Given the description of an element on the screen output the (x, y) to click on. 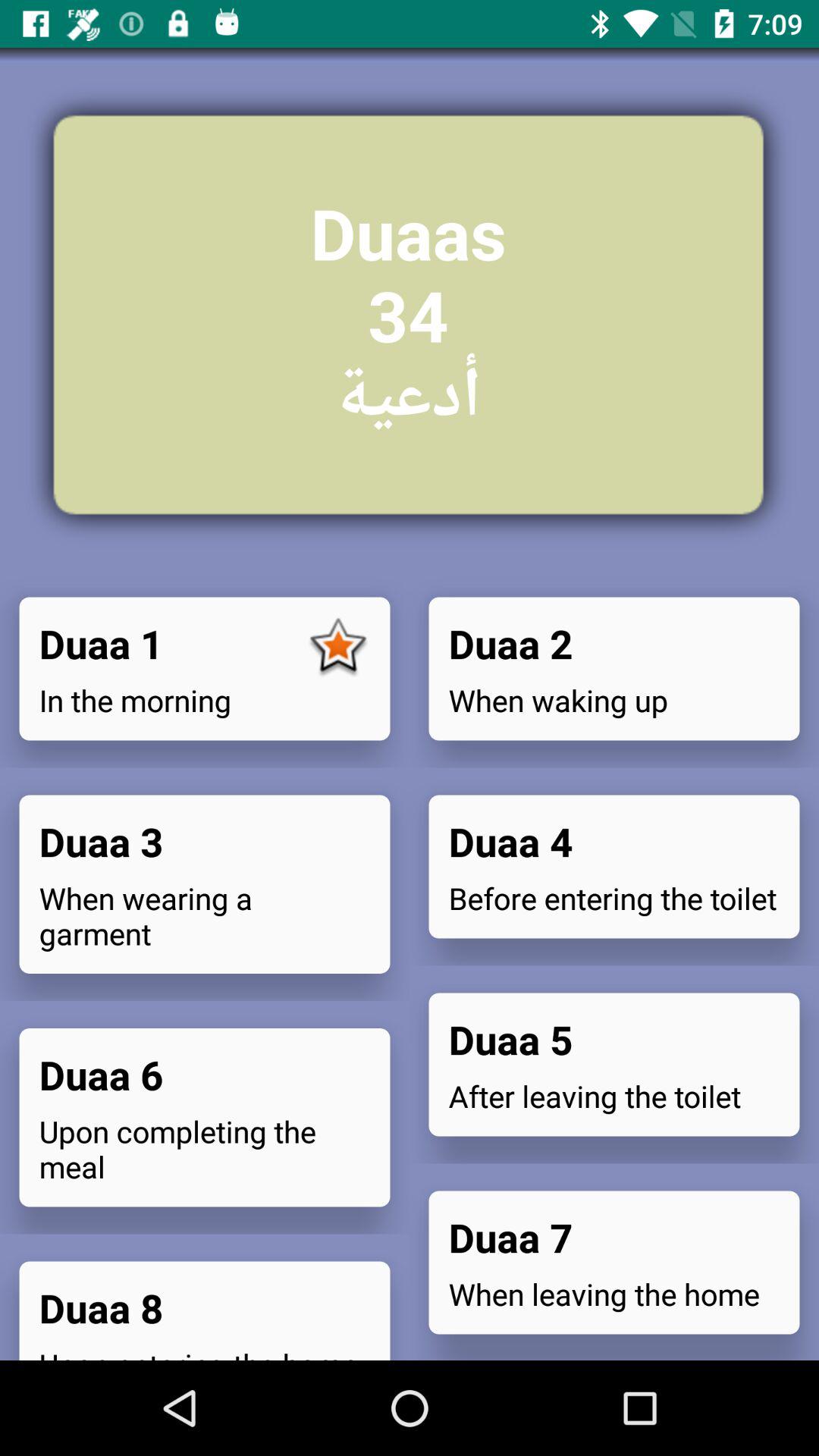
click on duaa 2 when waking up (614, 669)
click on icon on the right side of duaa 1 (338, 649)
click on icon on the right side of duaa 1 (614, 1261)
